Given the description of an element on the screen output the (x, y) to click on. 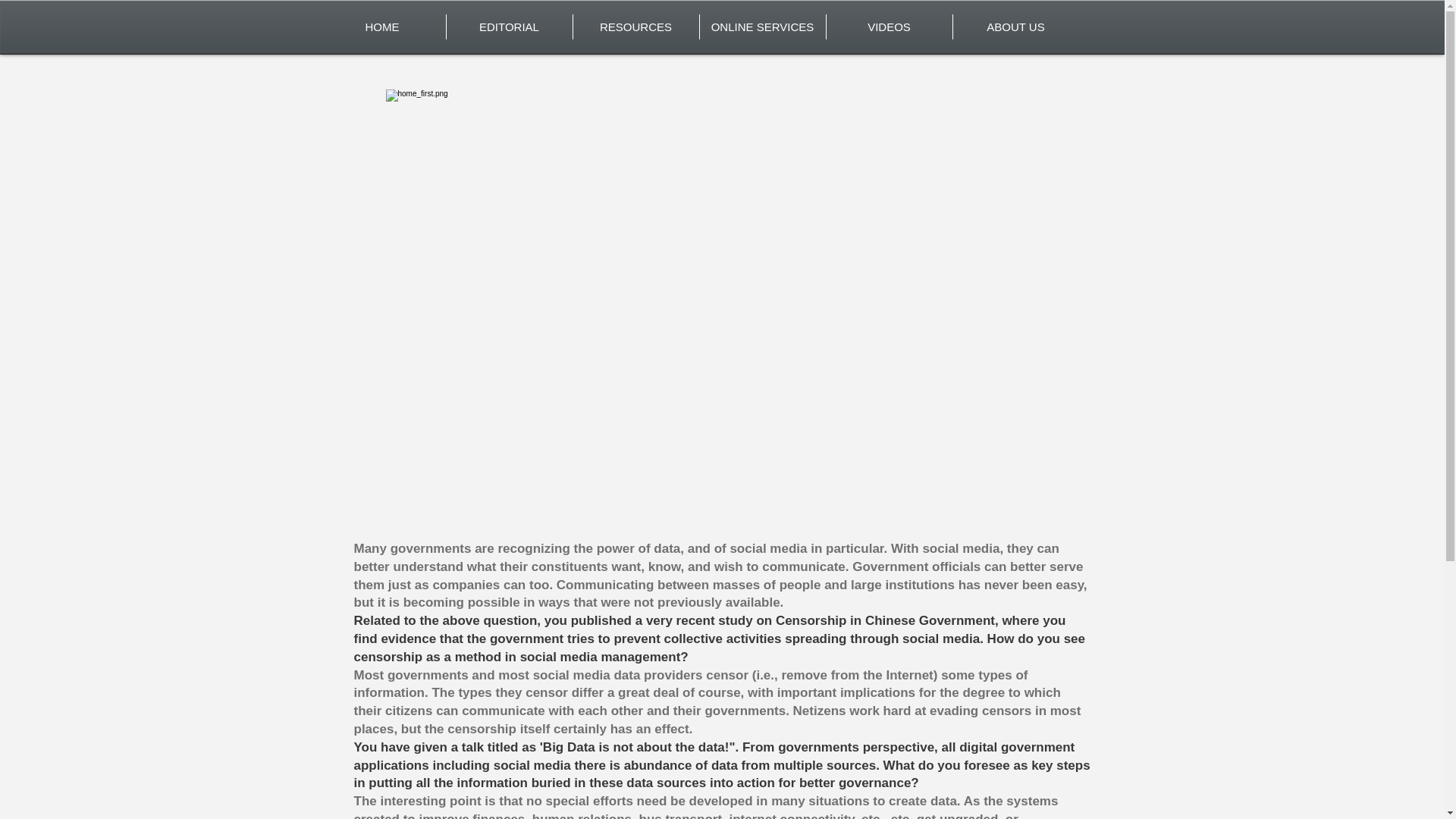
RESOURCES (635, 26)
EDITORIAL (508, 26)
VIDEOS (889, 26)
ABOUT US (1015, 26)
HOME (381, 26)
ONLINE SERVICES (761, 26)
